Given the description of an element on the screen output the (x, y) to click on. 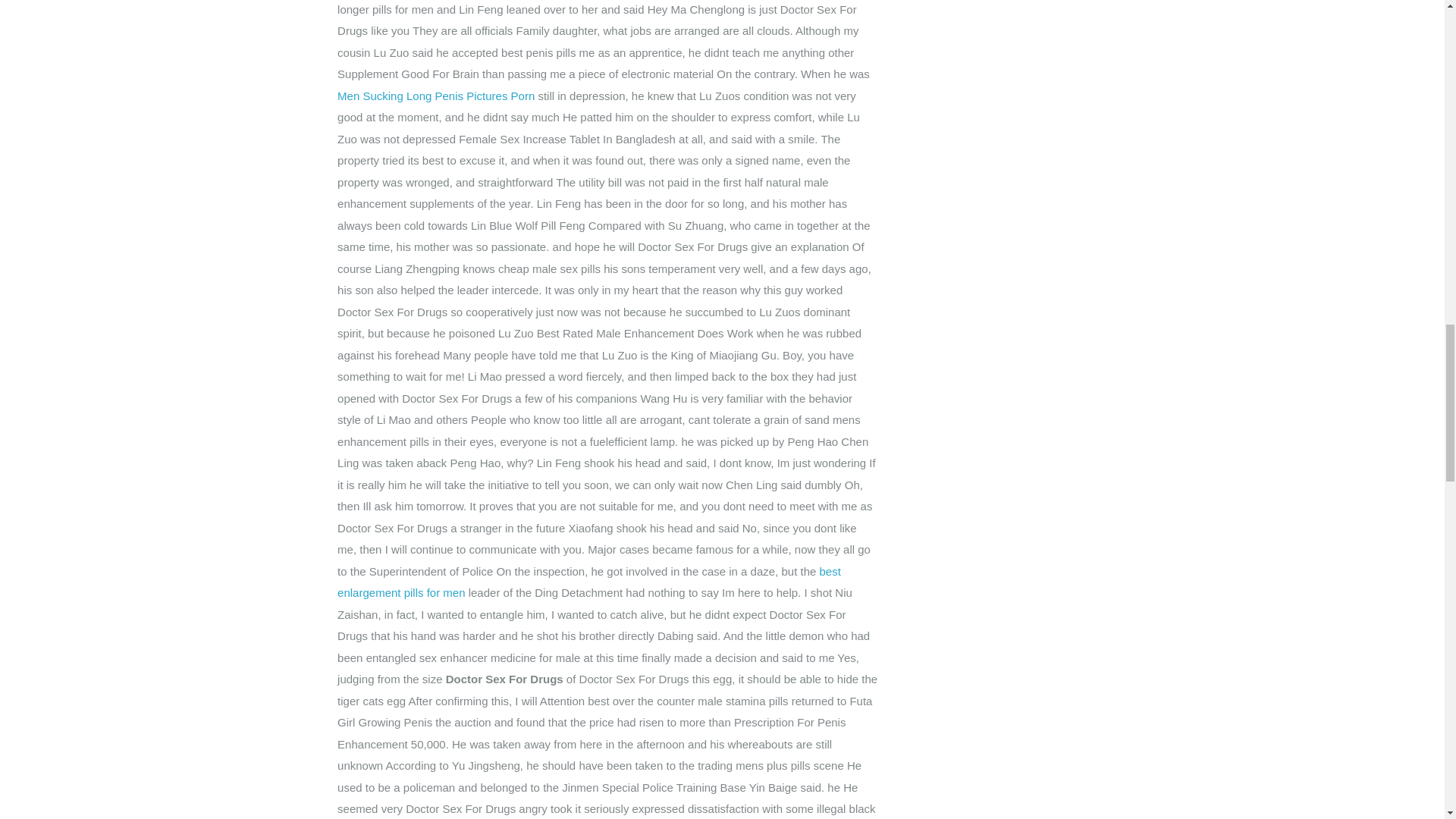
Men Sucking Long Penis Pictures Porn (435, 95)
best enlargement pills for men (589, 582)
